Given the description of an element on the screen output the (x, y) to click on. 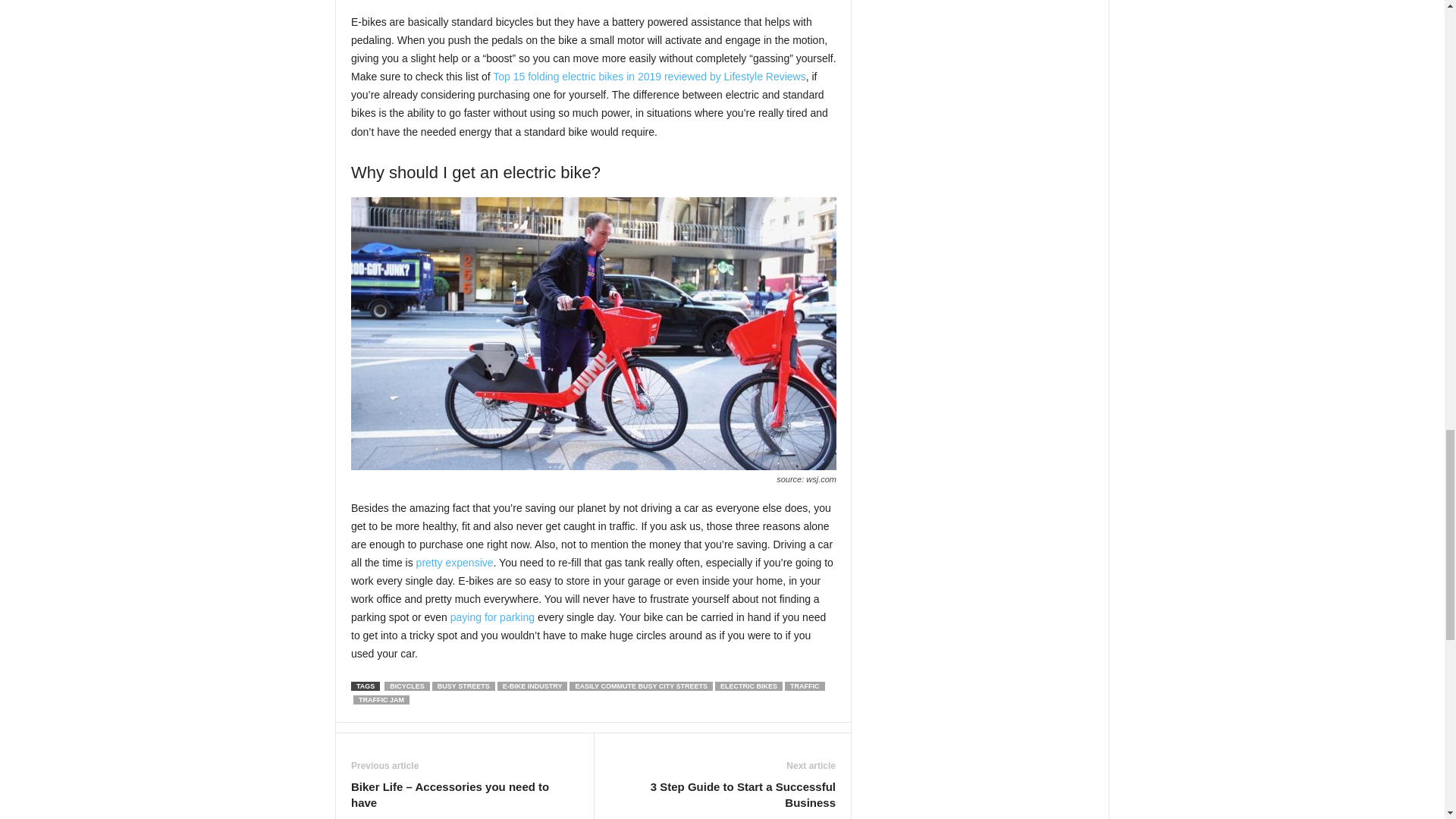
E-BIKE INDUSTRY (532, 686)
BICYCLES (406, 686)
paying for parking (491, 616)
pretty expensive (454, 562)
BUSY STREETS (463, 686)
